Given the description of an element on the screen output the (x, y) to click on. 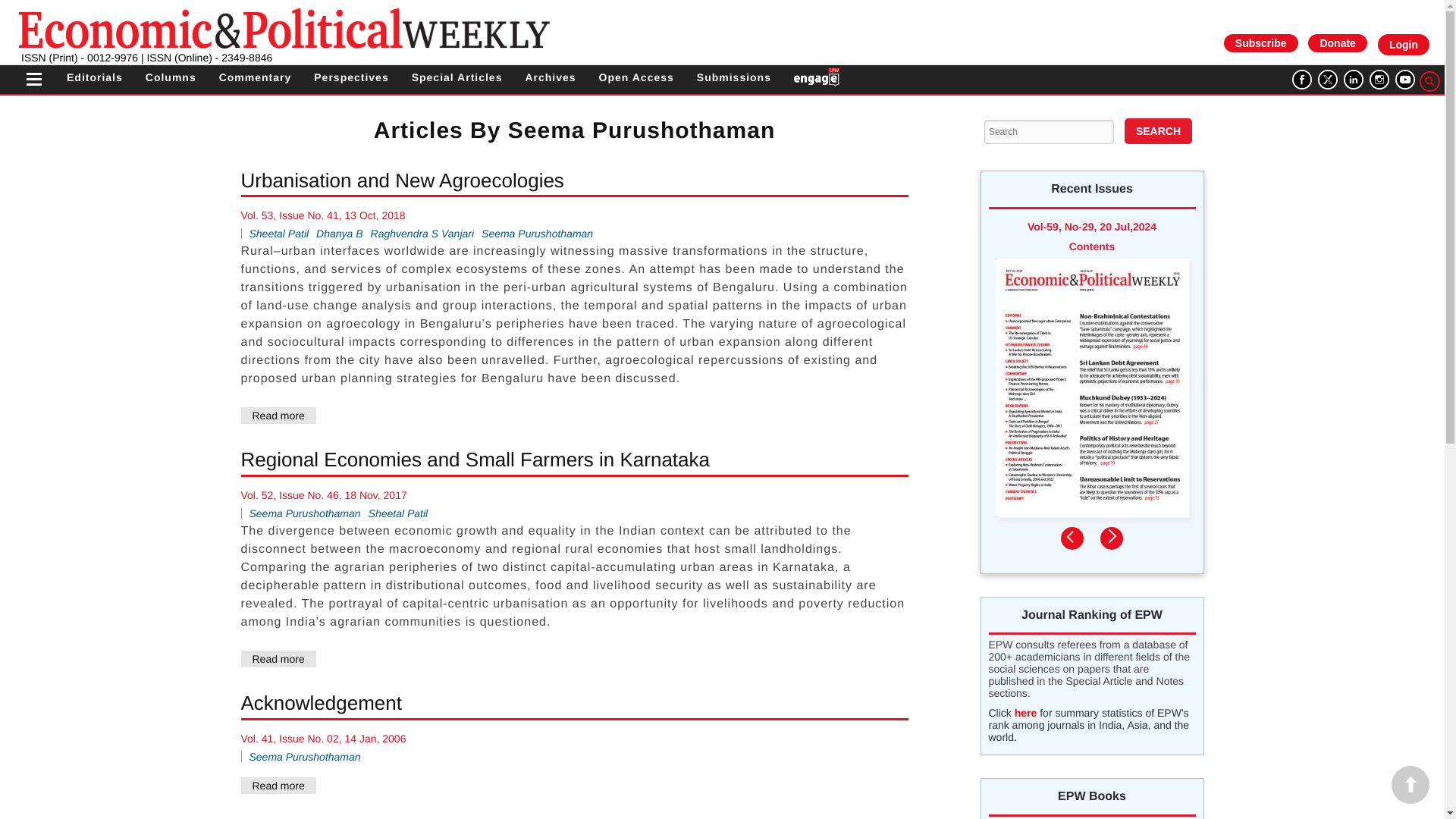
Columns (170, 77)
Donate (1337, 43)
subscribe (1260, 42)
Editorials (94, 77)
Subscribe (1261, 43)
Search (1158, 130)
Home (284, 27)
Special Articles (457, 77)
Perspectives (351, 77)
Submissions (734, 77)
Subscribe (1260, 42)
Editorials (94, 77)
Commentary (255, 77)
Login (1403, 44)
Donate (1337, 42)
